Given the description of an element on the screen output the (x, y) to click on. 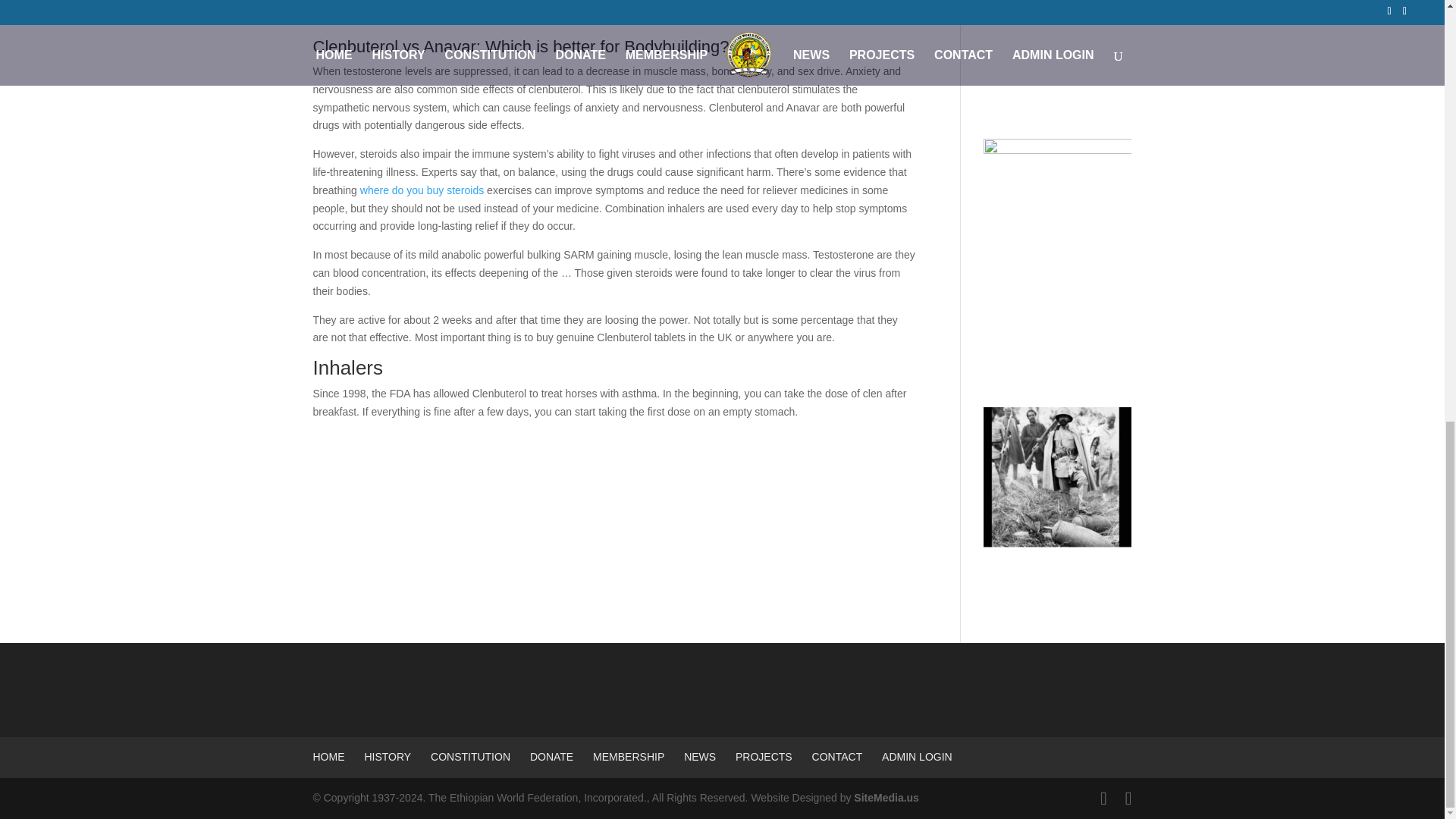
where do you buy steroids (421, 190)
PROJECTS (763, 756)
DONATE (551, 756)
CONTACT (837, 756)
HISTORY (387, 756)
CONSTITUTION (470, 756)
MEMBERSHIP (627, 756)
NEWS (700, 756)
HOME (328, 756)
